Given the description of an element on the screen output the (x, y) to click on. 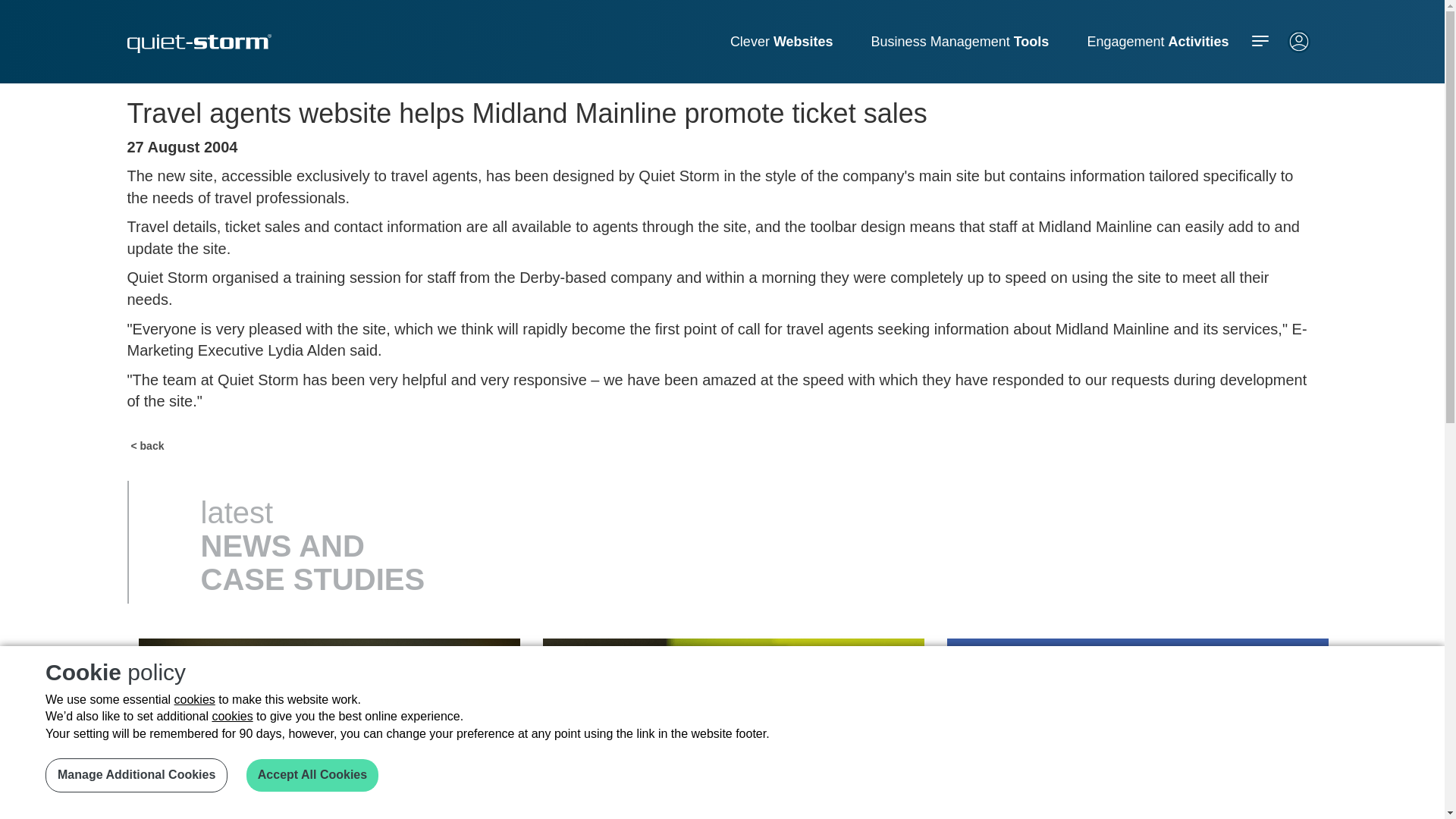
Quiet Storm - Home Page (198, 43)
Manage Additional Cookies (136, 775)
Engagement Activities (1157, 41)
Clever Websites (781, 41)
Accept All Cookies (312, 775)
cookies (231, 716)
Toggle navigation (1259, 40)
cookies (194, 698)
Business Management Tools (960, 41)
Client Login (1298, 49)
